Given the description of an element on the screen output the (x, y) to click on. 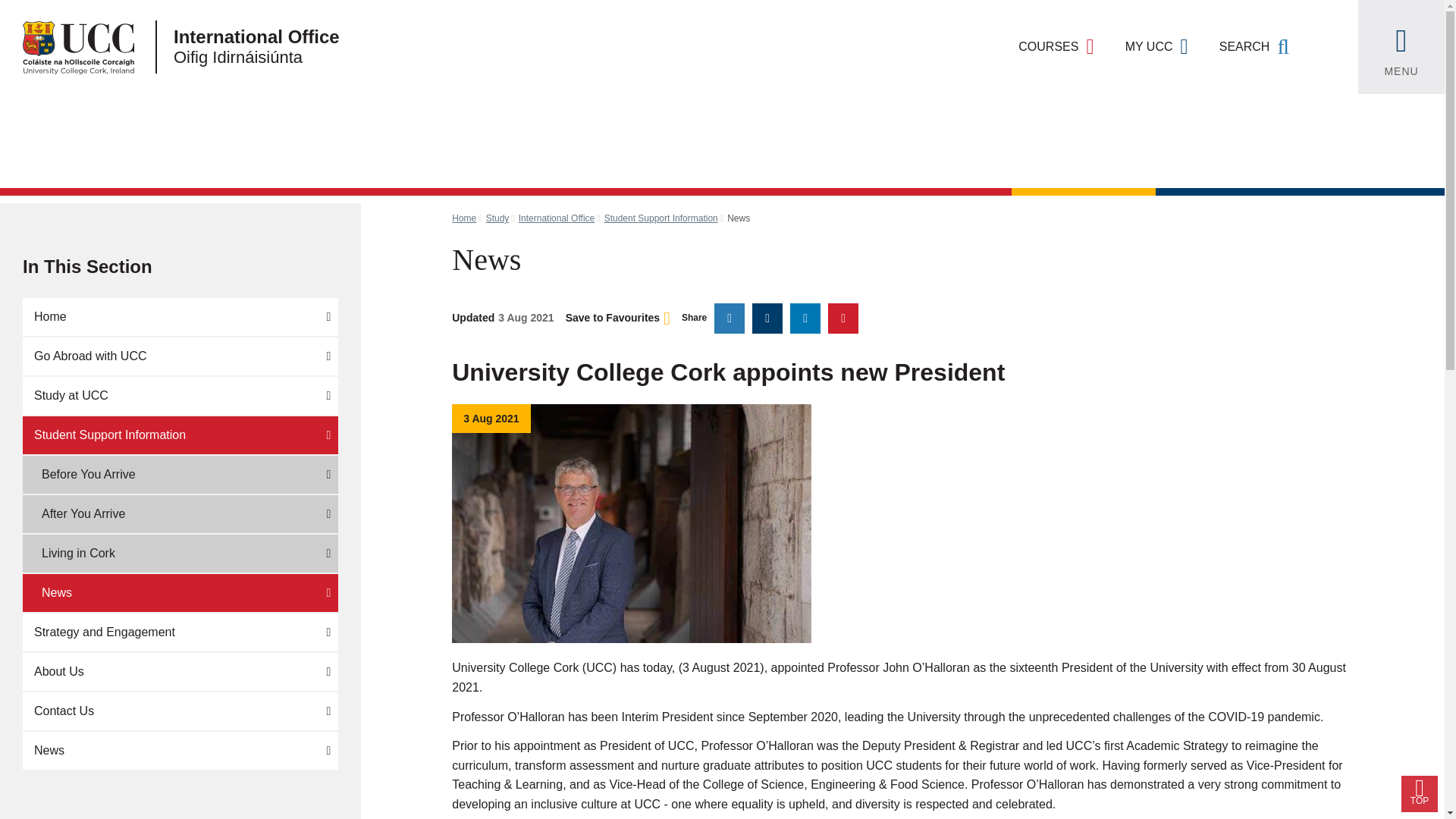
COURSES (1055, 47)
UCC University College Cork (66, 47)
SEARCH (1254, 47)
Back to top (1419, 793)
Email (843, 318)
Linkedin (805, 318)
Twitter (729, 318)
Facebook (767, 318)
